Given the description of an element on the screen output the (x, y) to click on. 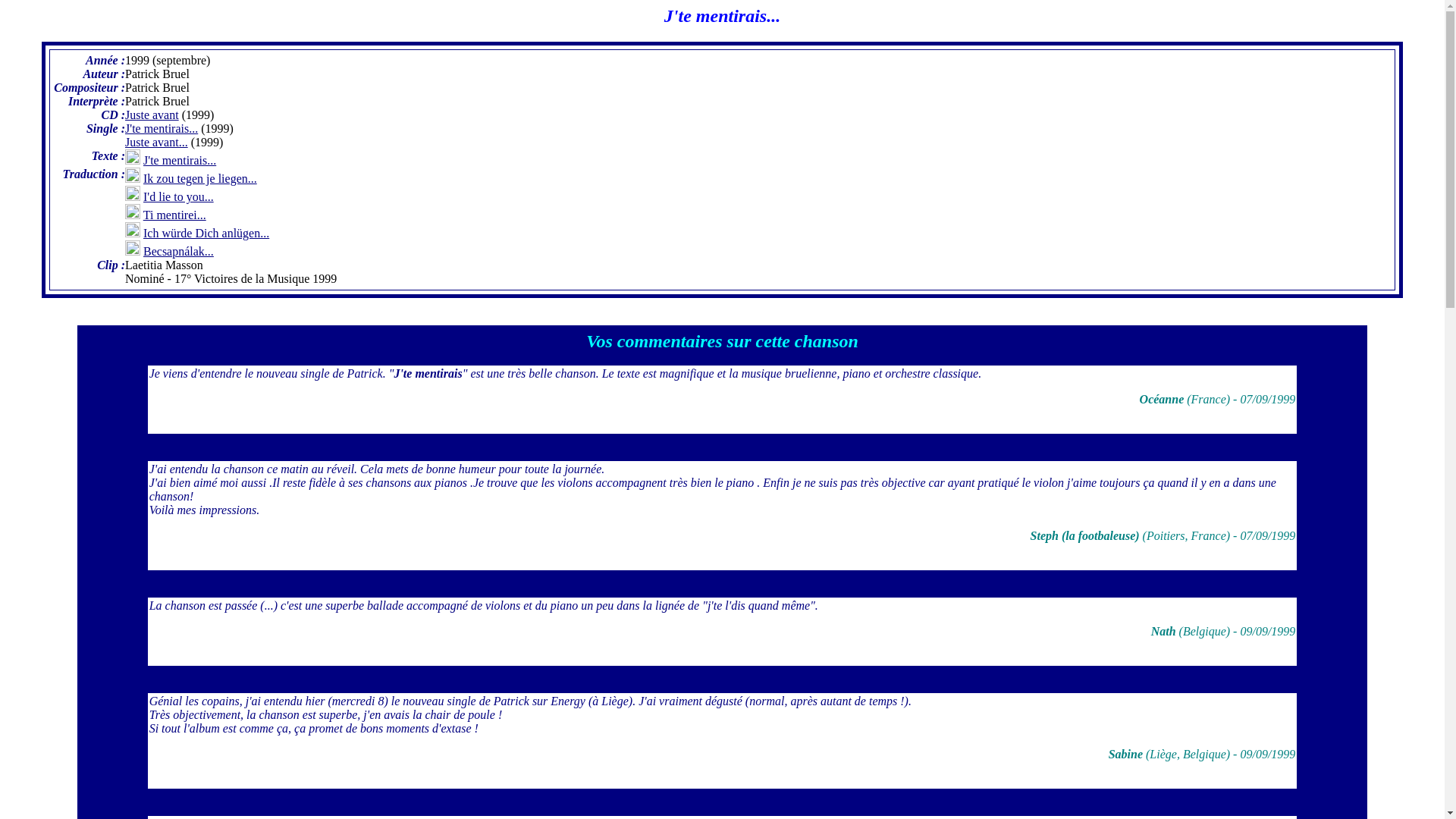
  Element type: text (721, 317)
Ti mentirei... Element type: text (174, 214)
J'te mentirais... Element type: text (161, 128)
J'te mentirais... Element type: text (179, 159)
I'd lie to you... Element type: text (178, 196)
Juste avant Element type: text (151, 114)
Ik zou tegen je liegen... Element type: text (200, 178)
Juste avant... Element type: text (156, 141)
